Given the description of an element on the screen output the (x, y) to click on. 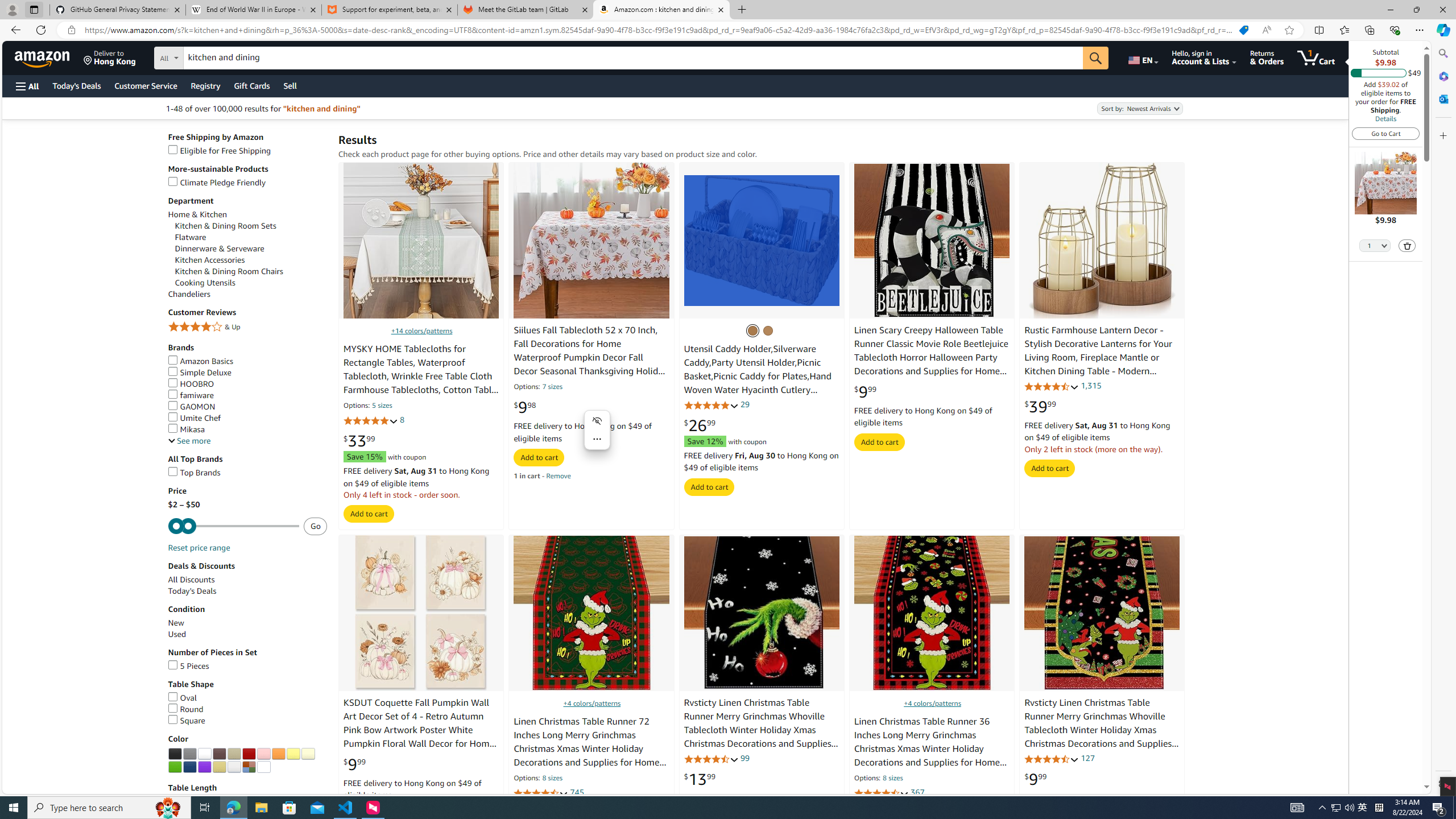
Mikasa (247, 429)
Amazon (43, 57)
Kitchen & Dining Room Chairs (228, 271)
Remove (558, 475)
Red (248, 753)
Used (176, 633)
+4 colors/patterns (932, 702)
Reset price range (198, 547)
AutomationID: p_n_feature_twenty_browse-bin/3254111011 (218, 766)
Deliver to Hong Kong (109, 57)
0 items in cart (1315, 57)
Eligible for Free Shipping (218, 150)
